Given the description of an element on the screen output the (x, y) to click on. 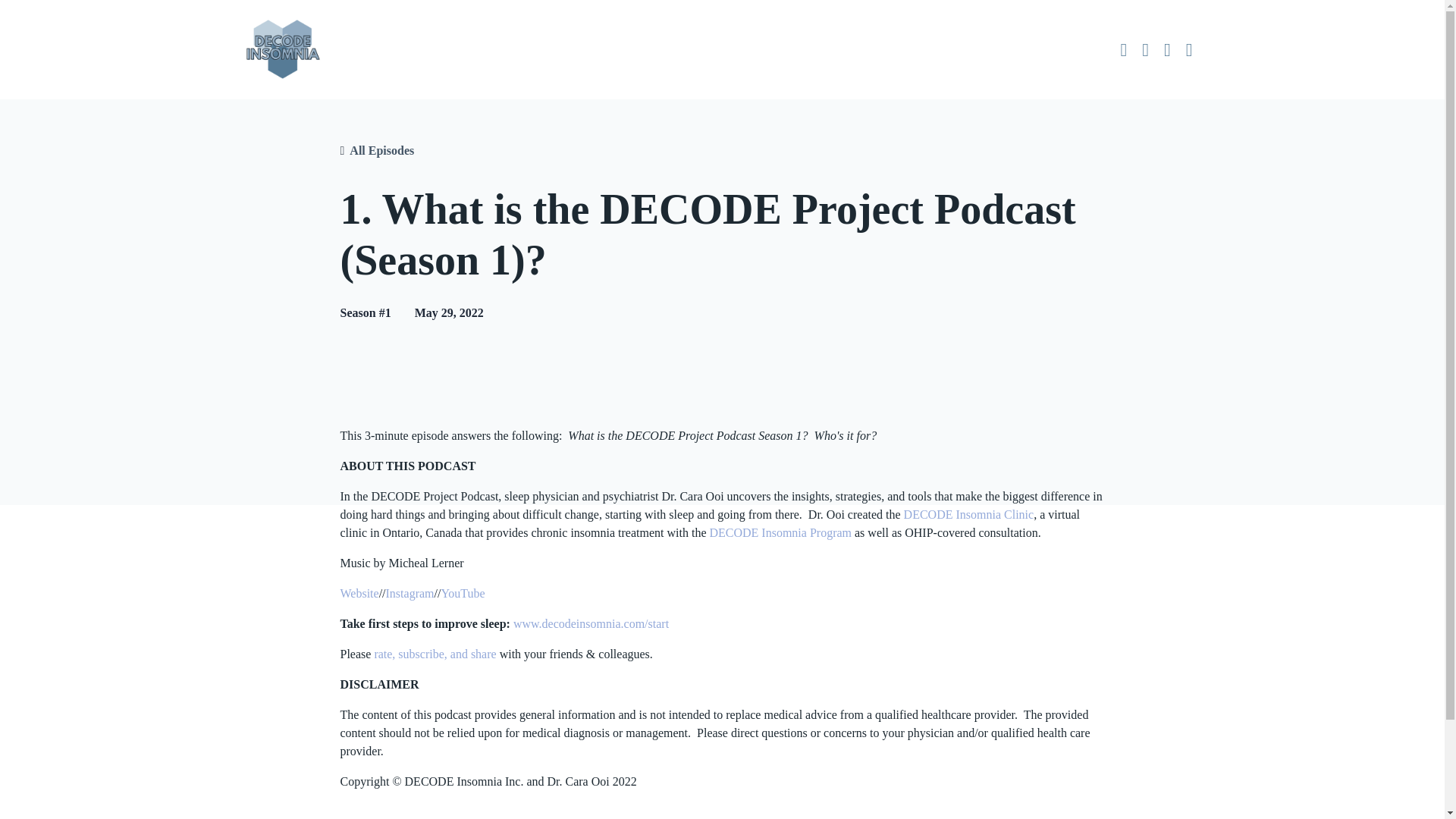
All Episodes (381, 150)
May 29, 2022 at 12:00pm CST (448, 312)
Website (358, 593)
rate, subscribe, and share (435, 653)
YouTube (462, 593)
Instagram (409, 593)
DECODE Insomnia Clinic (968, 513)
DECODE Insomnia Program (780, 532)
